Given the description of an element on the screen output the (x, y) to click on. 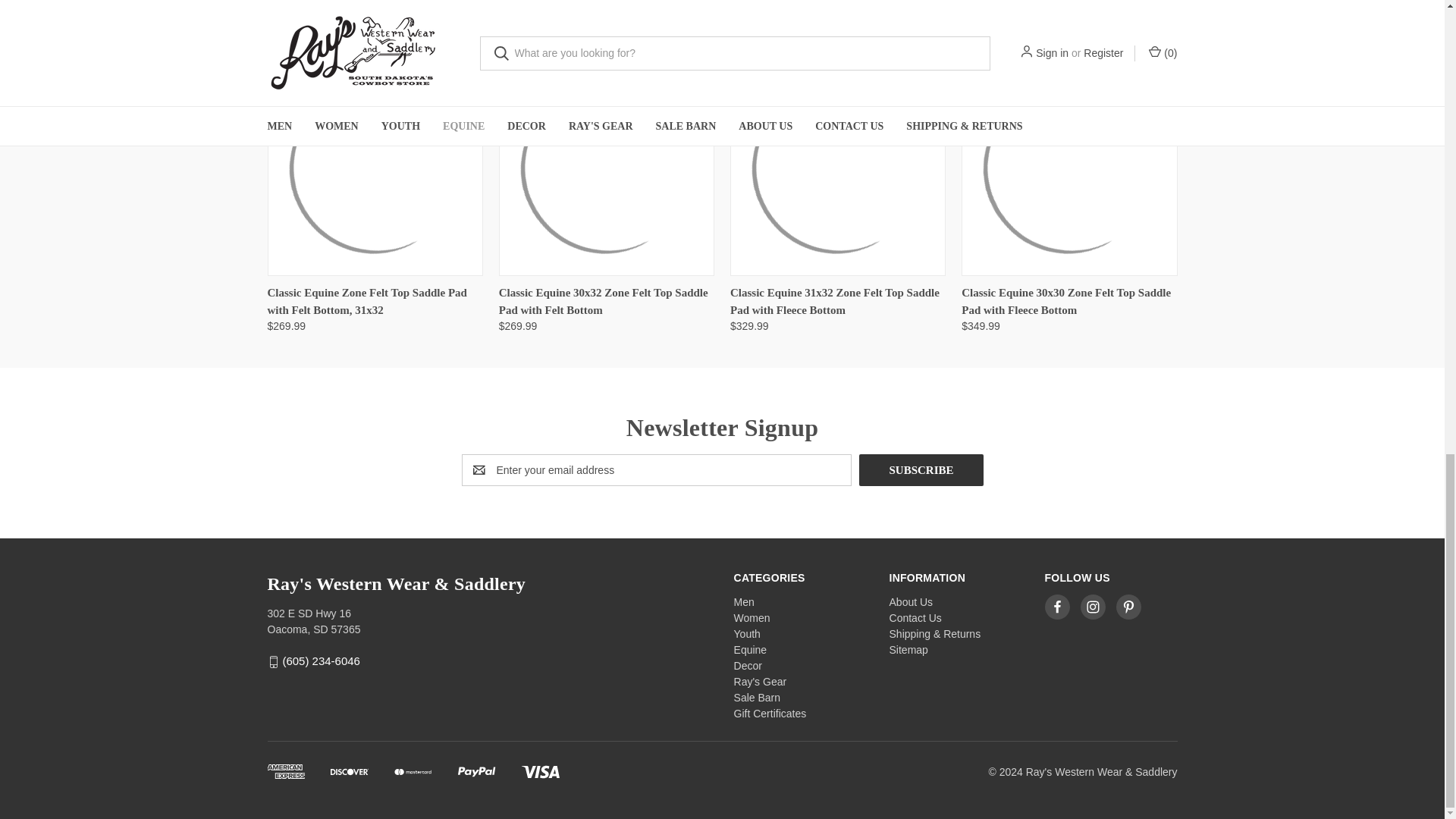
Subscribe (920, 470)
